Given the description of an element on the screen output the (x, y) to click on. 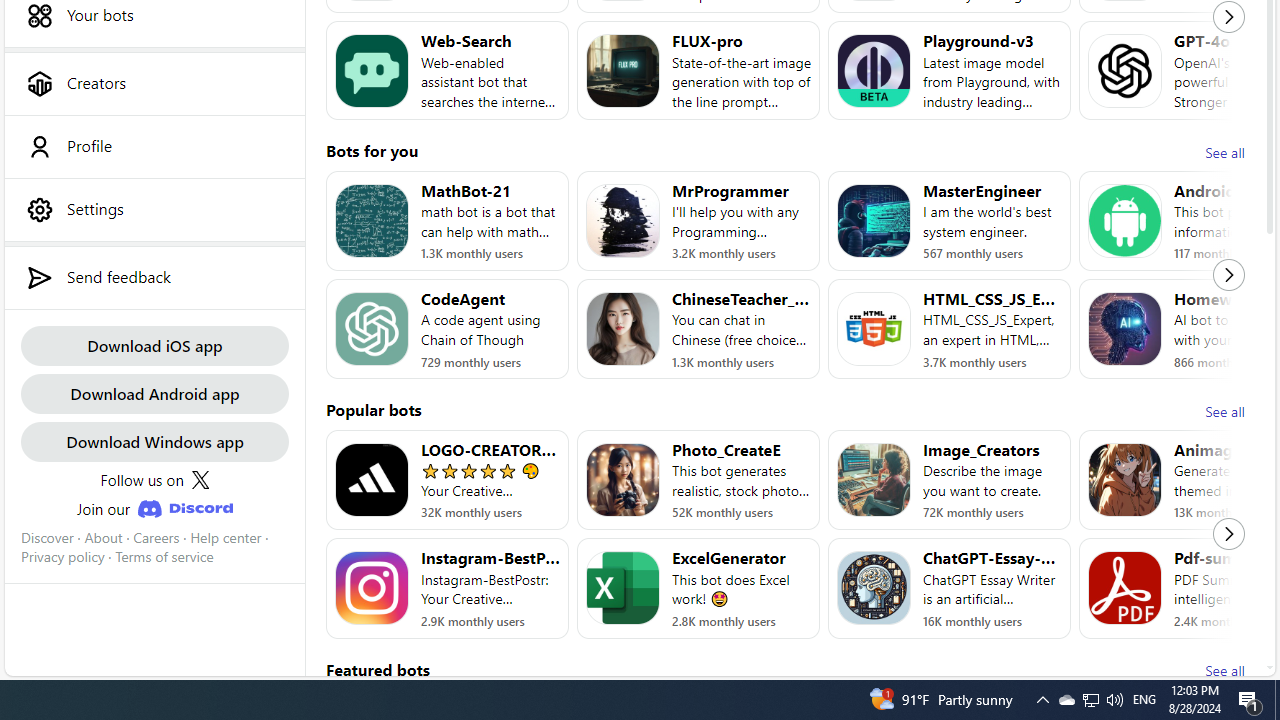
Class: JoinDiscordLink_discordIcon__Xw13A (184, 509)
Bot image for HTML_CSS_JS_Expert (874, 329)
Bot image for Instagram-BestPost (371, 588)
Send feedback (154, 277)
Bot image for LOGO-CREATOR-AI (371, 480)
Next (1229, 533)
Bot image for Image_Creators (874, 480)
